Given the description of an element on the screen output the (x, y) to click on. 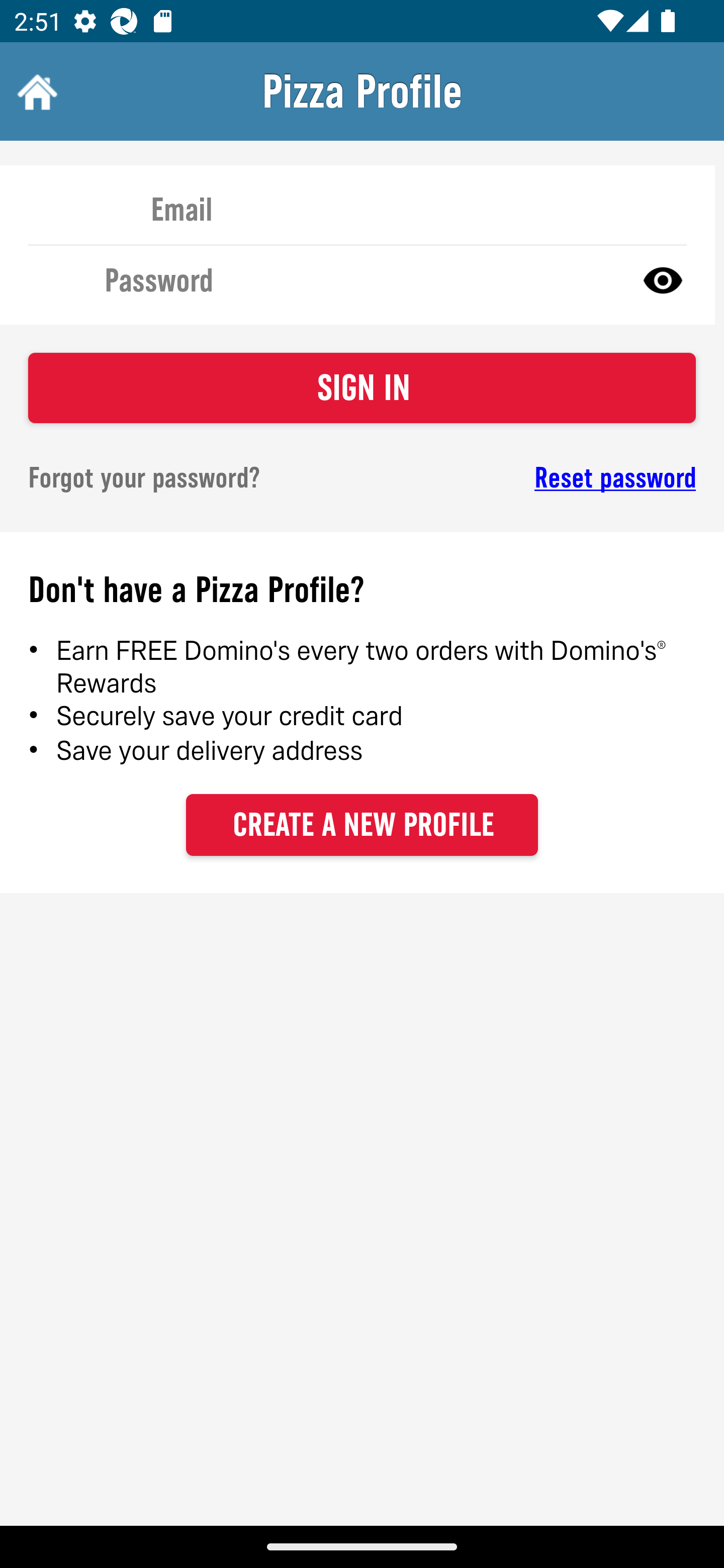
Home (35, 91)
Show Password (663, 279)
SIGN IN (361, 387)
Reset password (545, 477)
CREATE A NEW PROFILE (361, 824)
